Given the description of an element on the screen output the (x, y) to click on. 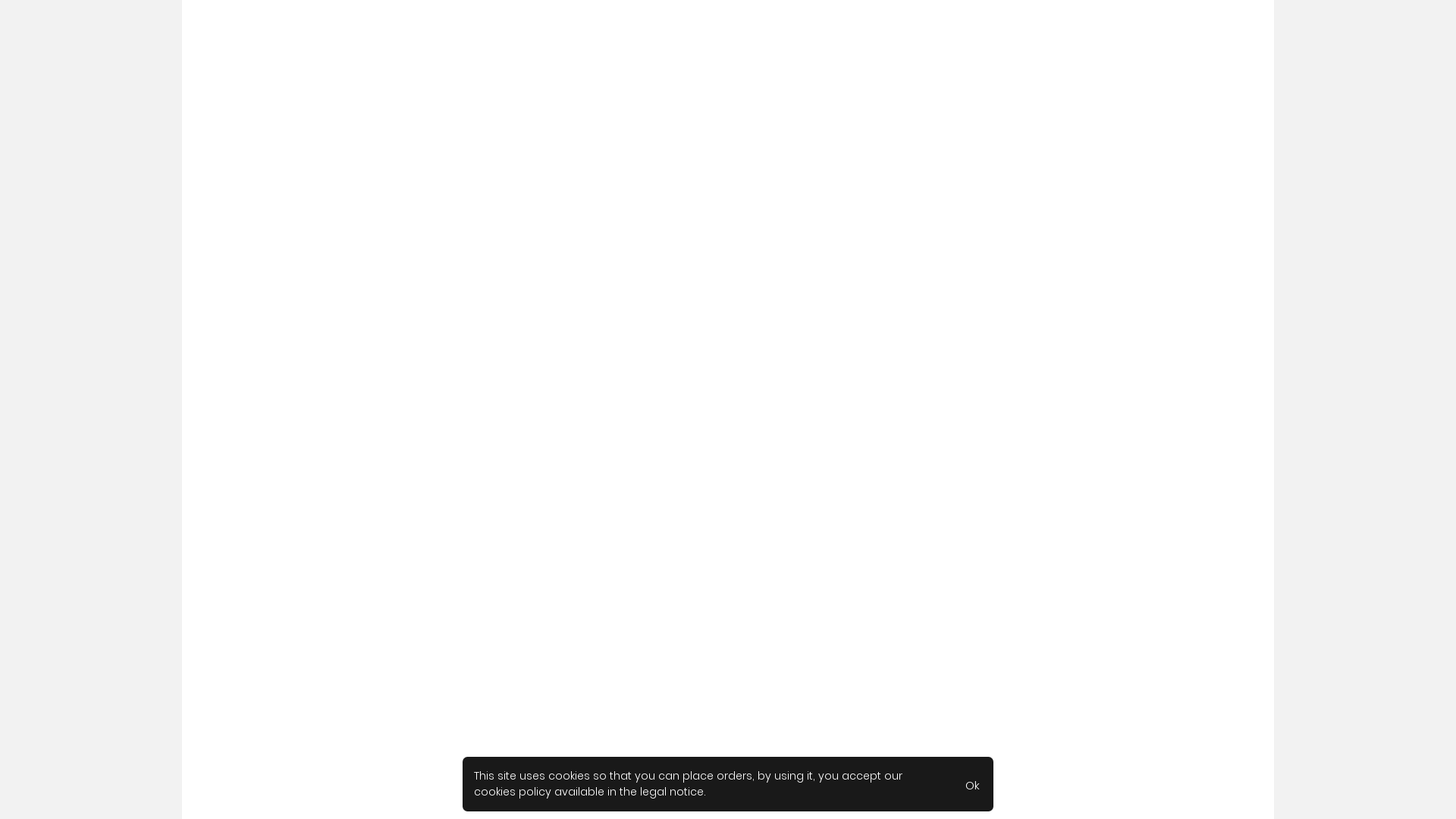
Ok Element type: text (972, 784)
